Given the description of an element on the screen output the (x, y) to click on. 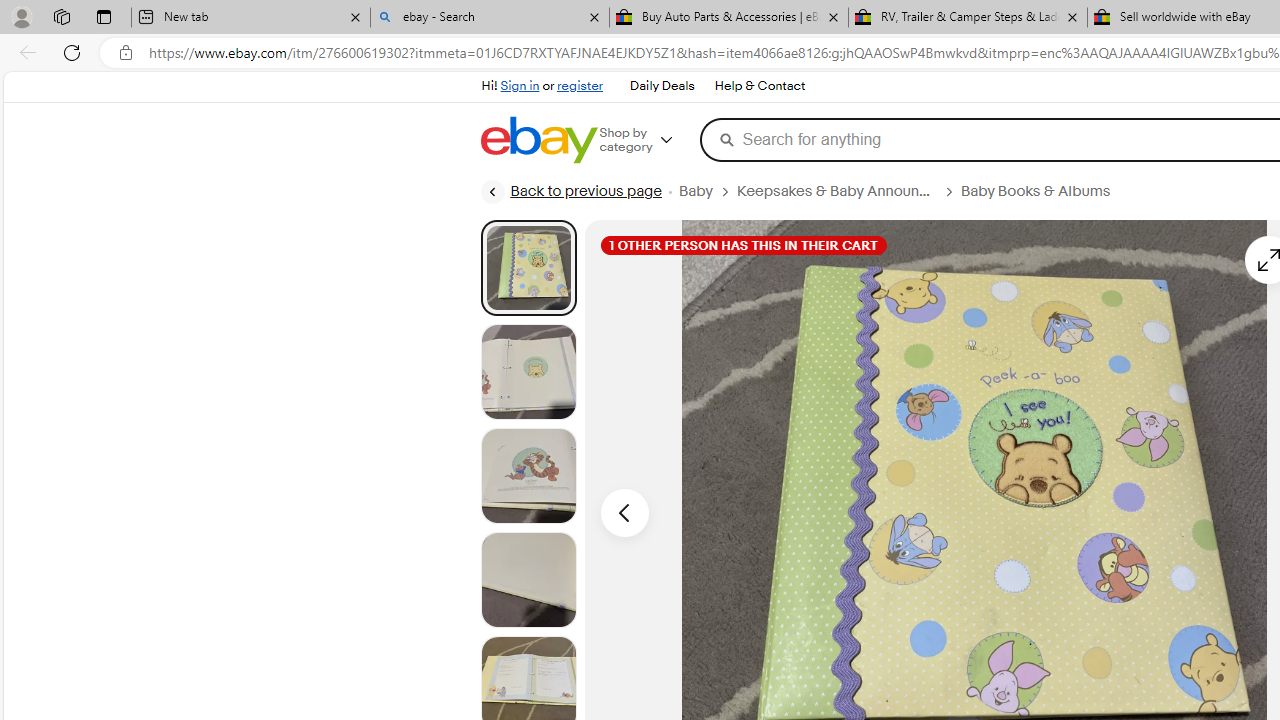
Picture 3 of 22 (528, 475)
Baby Books & Albums (1043, 191)
Picture 3 of 22 (528, 475)
